Given the description of an element on the screen output the (x, y) to click on. 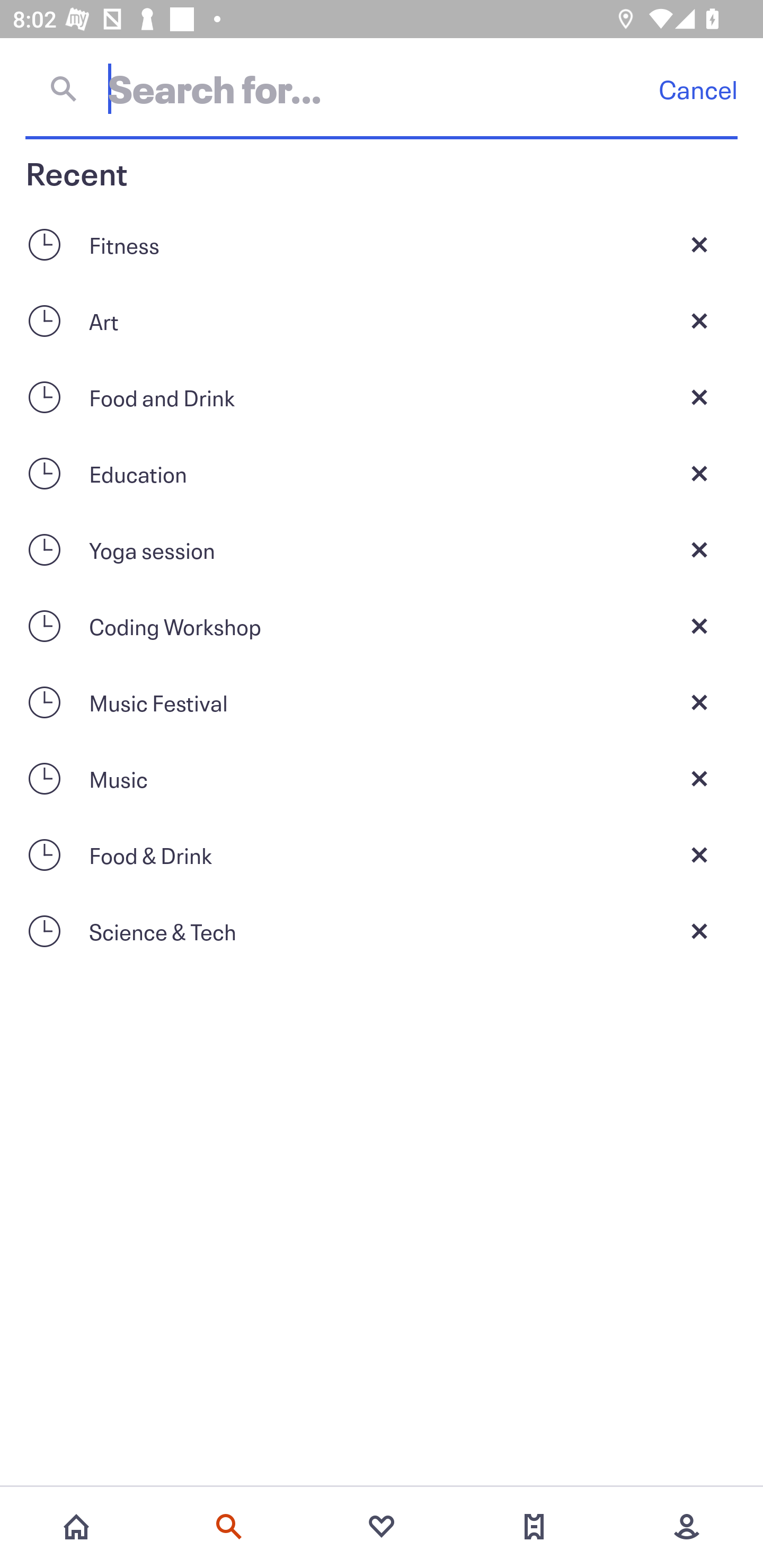
Cancel Search for… (381, 88)
Cancel (697, 89)
Fitness Close current screen (381, 244)
Close current screen (699, 244)
Art Close current screen (381, 320)
Close current screen (699, 320)
Food and Drink Close current screen (381, 397)
Close current screen (699, 397)
Education Close current screen (381, 473)
Close current screen (699, 473)
Yoga session Close current screen (381, 549)
Close current screen (699, 549)
Coding Workshop Close current screen (381, 626)
Close current screen (699, 626)
Music Festival Close current screen (381, 702)
Close current screen (699, 702)
Music Close current screen (381, 778)
Close current screen (699, 778)
Food & Drink Close current screen (381, 854)
Close current screen (699, 854)
Science & Tech Close current screen (381, 931)
Close current screen (699, 931)
Home (76, 1526)
Search events (228, 1526)
Favorites (381, 1526)
Tickets (533, 1526)
More (686, 1526)
